Given the description of an element on the screen output the (x, y) to click on. 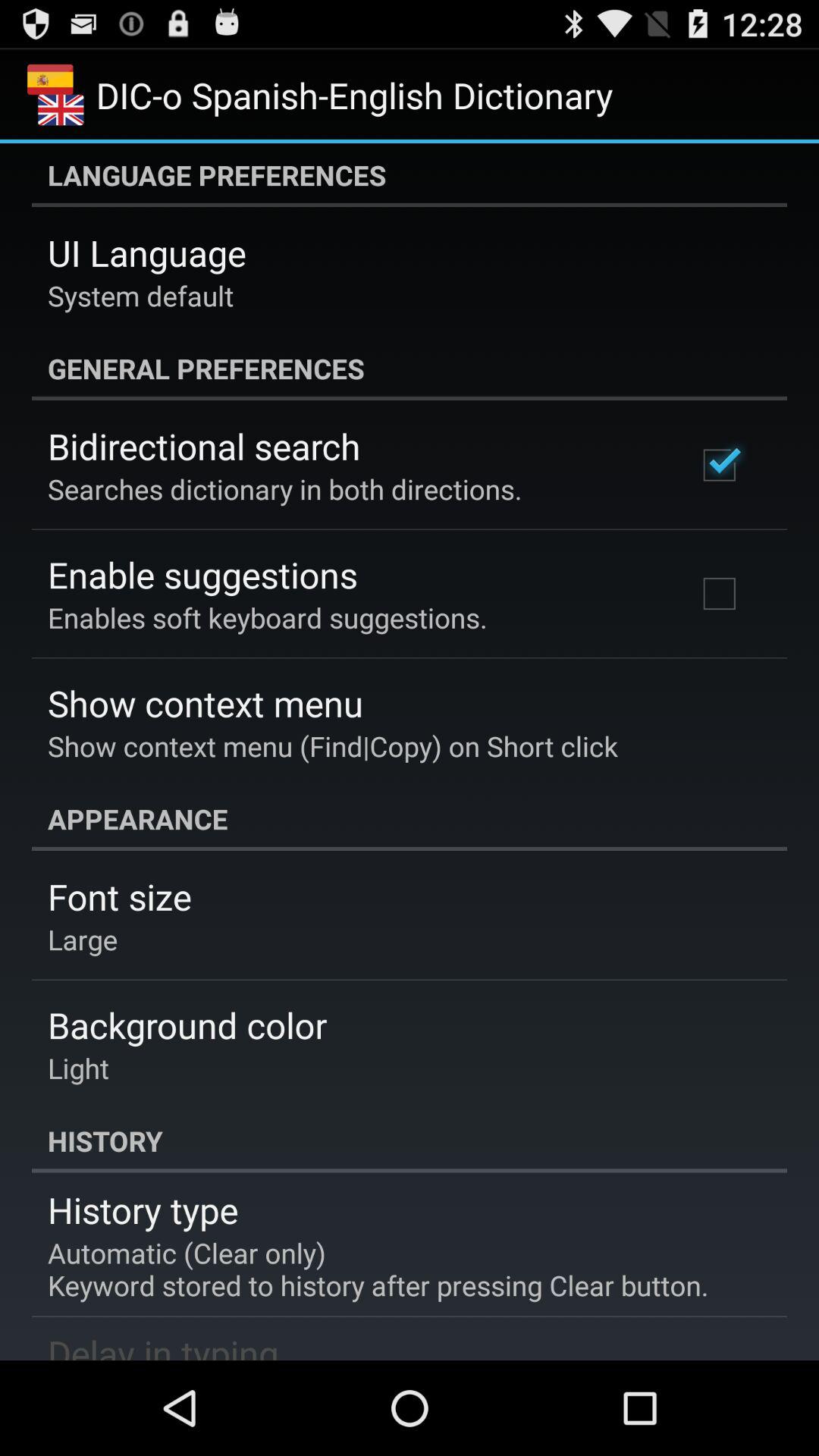
jump until the general preferences icon (409, 368)
